Given the description of an element on the screen output the (x, y) to click on. 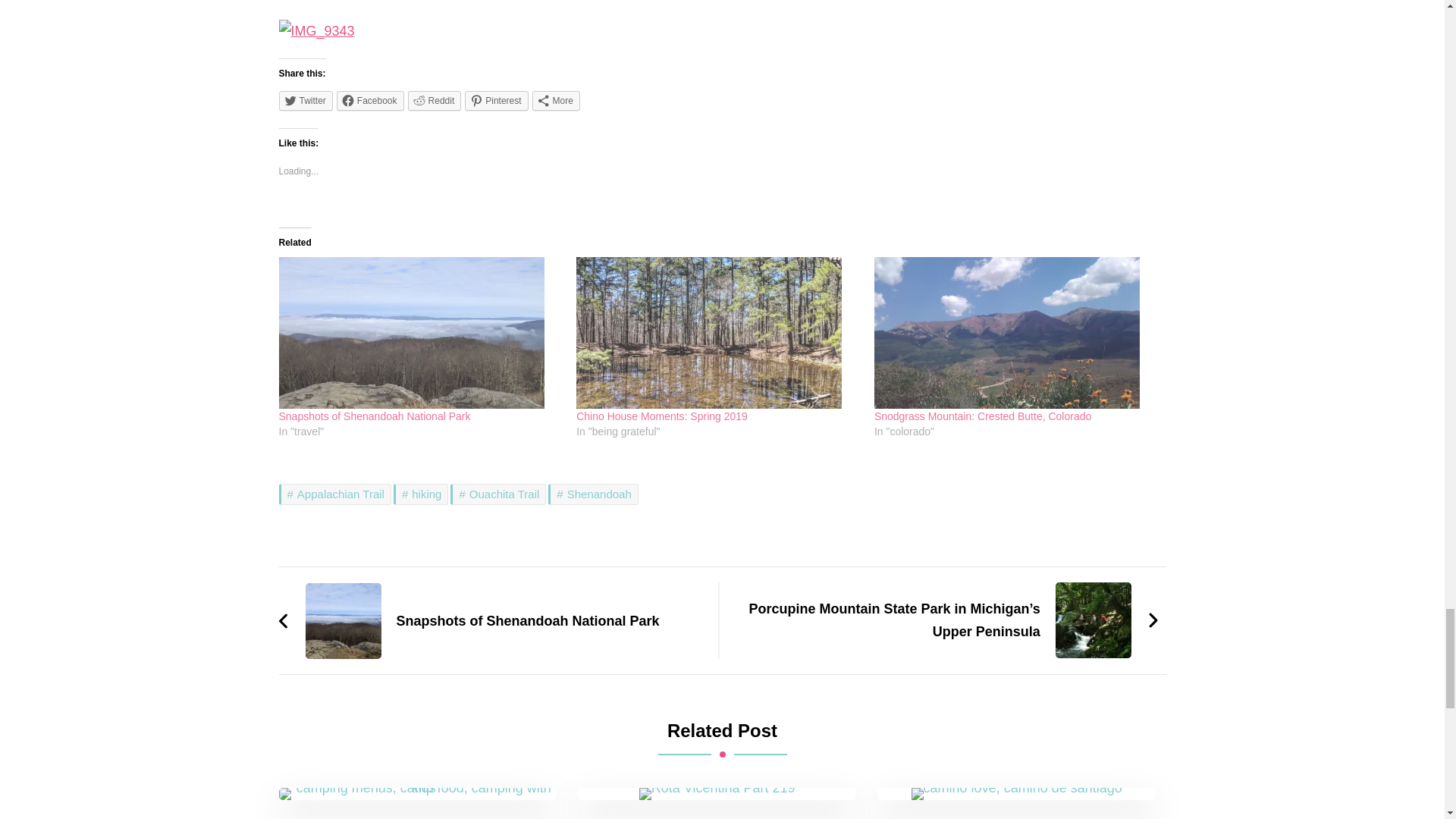
Snodgrass Mountain: Crested Butte, Colorado (1016, 332)
Twitter (306, 100)
Snapshots of Shenandoah National Park (374, 416)
Click to share on Facebook (370, 100)
Reddit (434, 100)
Snodgrass Mountain: Crested Butte, Colorado (982, 416)
Chino House Moments: Spring 2019 (717, 332)
Click to share on Twitter (306, 100)
Click to share on Pinterest (495, 100)
Facebook (370, 100)
Pinterest (495, 100)
More (555, 100)
Click to share on Reddit (434, 100)
Snapshots of Shenandoah National Park (420, 332)
Snapshots of Shenandoah National Park (374, 416)
